Given the description of an element on the screen output the (x, y) to click on. 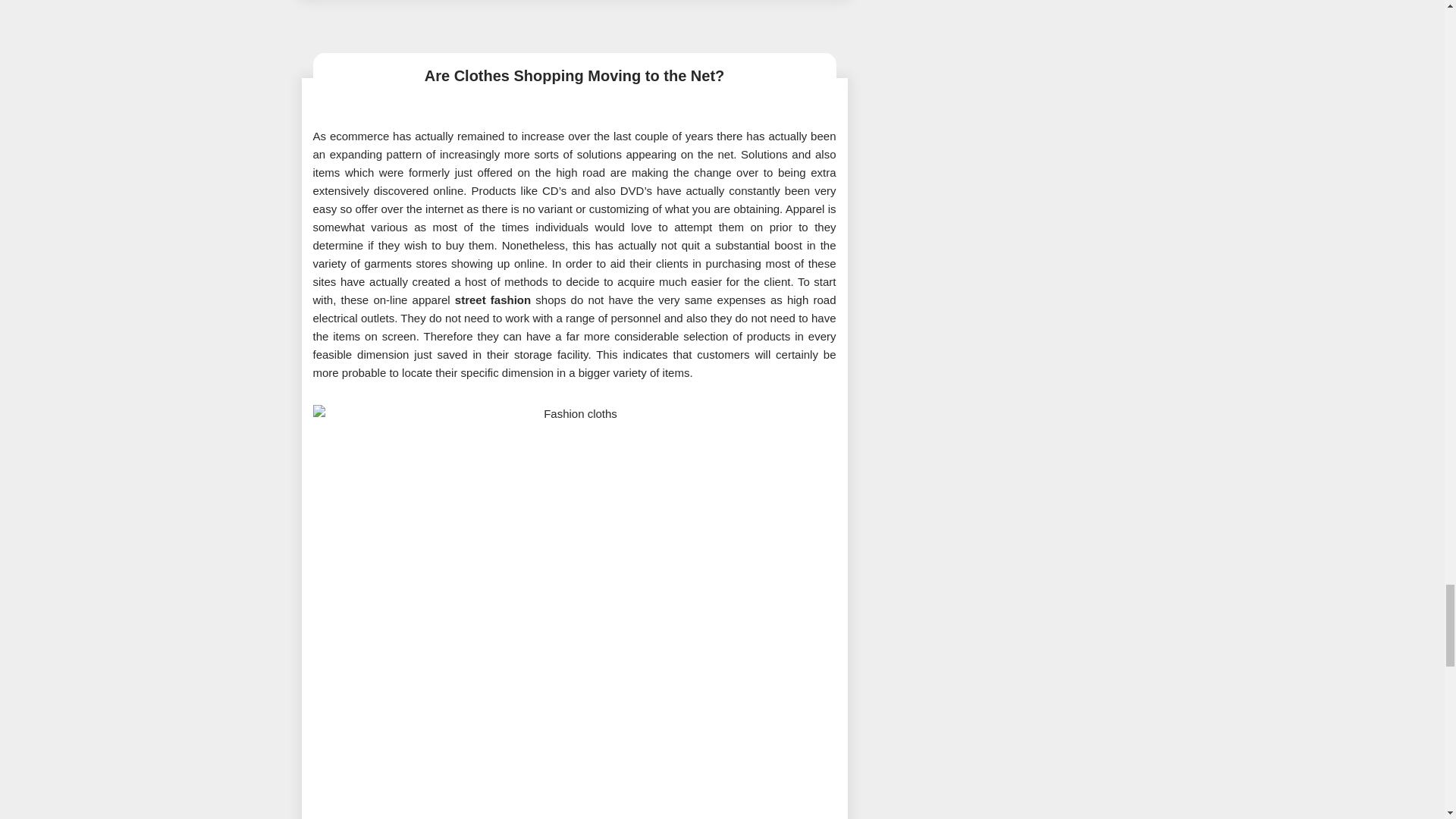
Are Clothes Shopping Moving to the Net? (574, 75)
street fashion (492, 299)
